Given the description of an element on the screen output the (x, y) to click on. 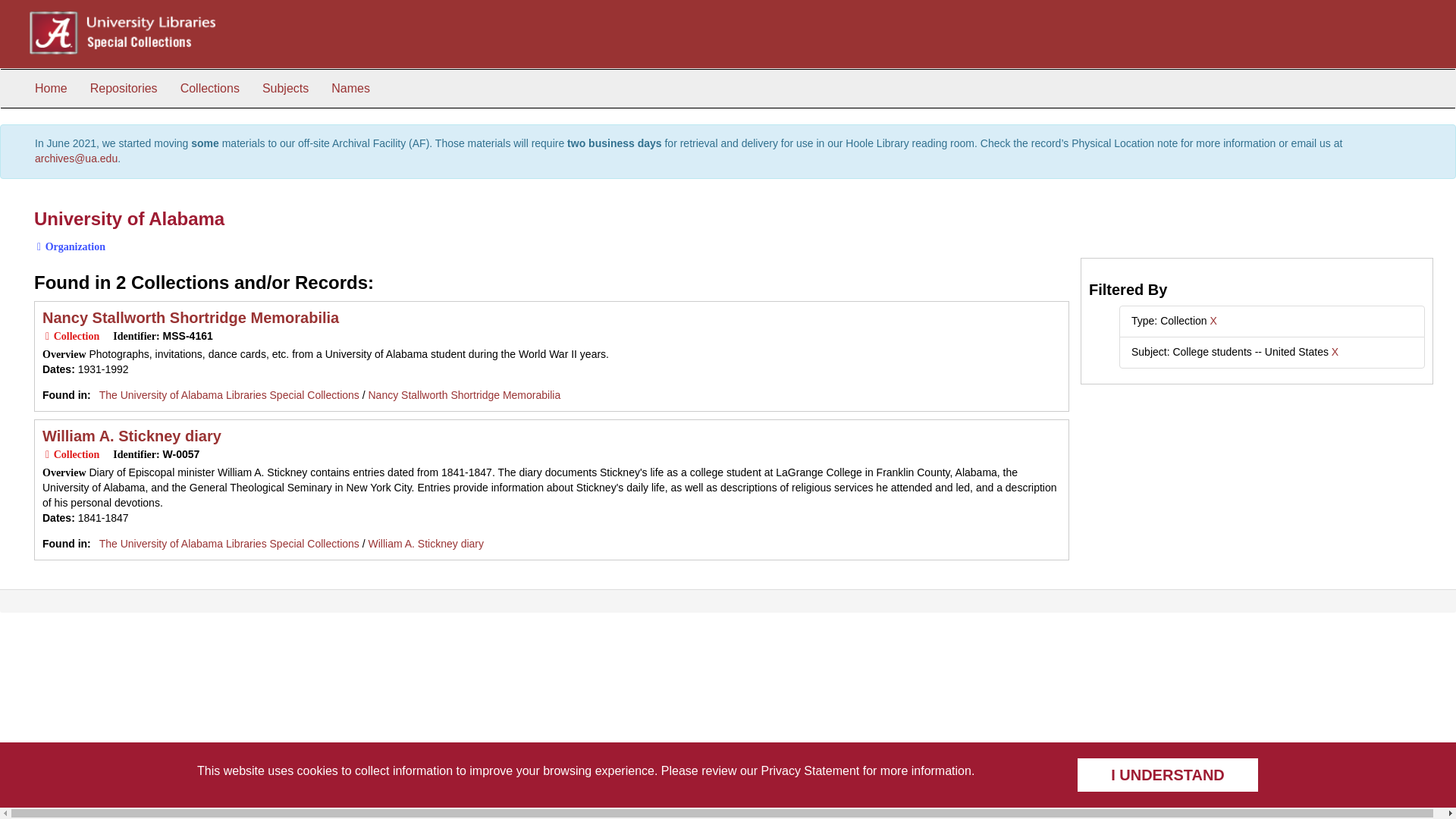
Home (50, 88)
William A. Stickney diary (425, 543)
translation missing: en.dates (56, 517)
The University of Alabama Libraries Special Collections (229, 395)
Names (350, 88)
Nancy Stallworth Shortridge Memorabilia (190, 317)
William A. Stickney diary (131, 435)
The University of Alabama Libraries Special Collections (229, 543)
Collections (209, 88)
Nancy Stallworth Shortridge Memorabilia (464, 395)
